Given the description of an element on the screen output the (x, y) to click on. 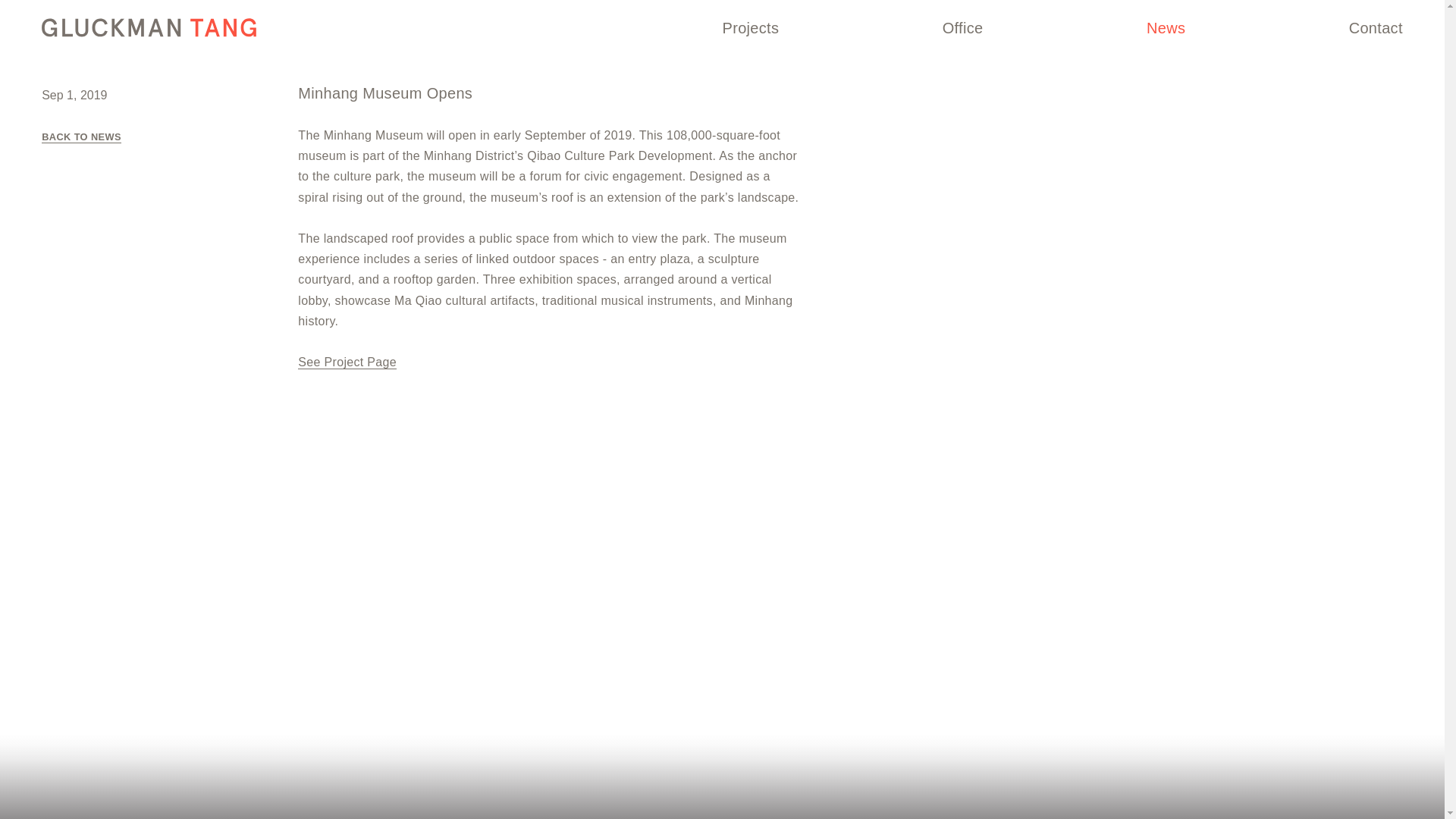
See Project Page (347, 362)
Office (963, 27)
Projects (750, 27)
News (1166, 27)
BACK TO NEWS (81, 137)
Contact (1376, 27)
